Given the description of an element on the screen output the (x, y) to click on. 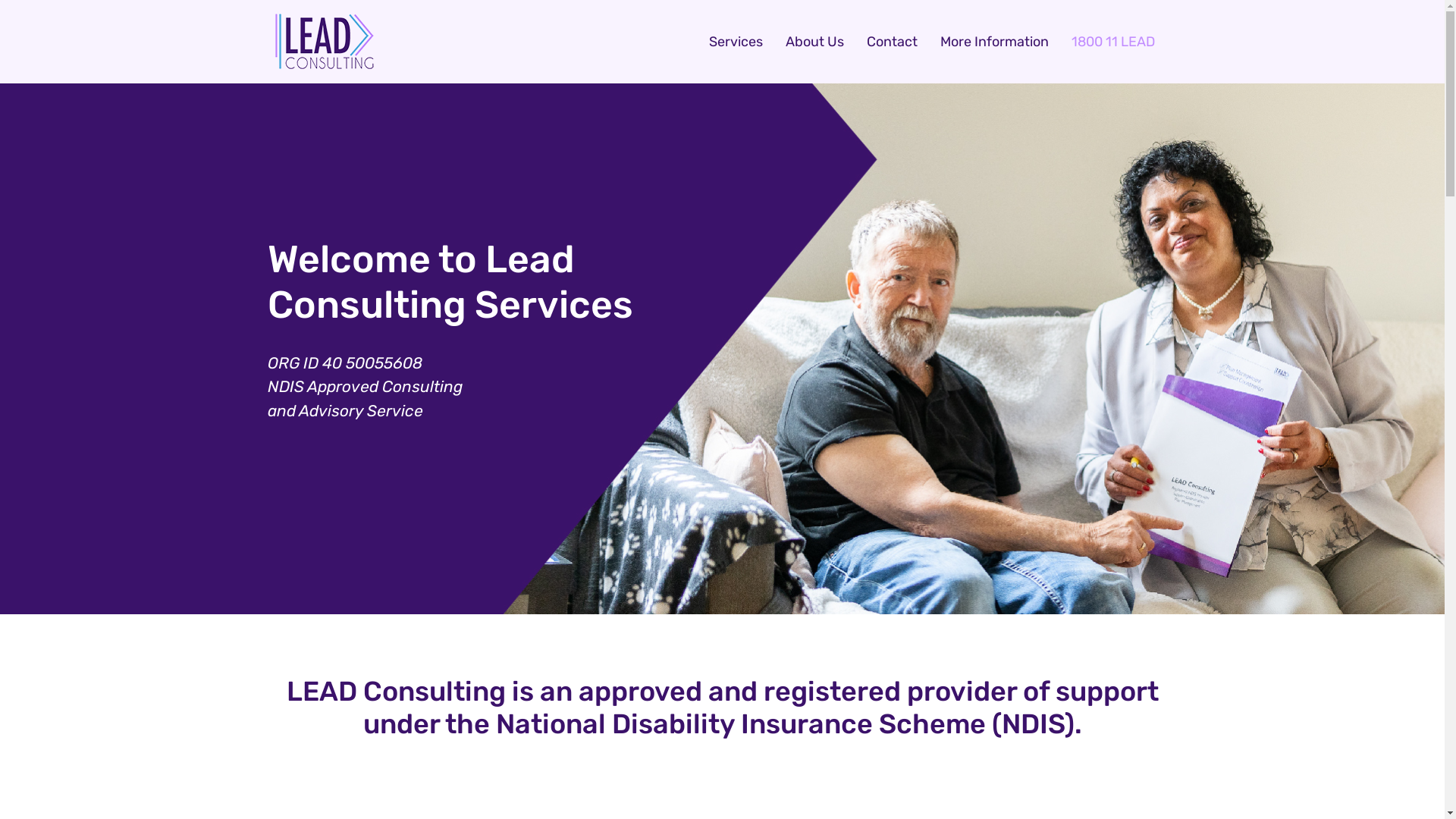
1800 11 LEAD Element type: text (1112, 41)
About Us Element type: text (814, 41)
Services Element type: text (735, 41)
Contact Element type: text (891, 41)
More Information Element type: text (994, 41)
